Given the description of an element on the screen output the (x, y) to click on. 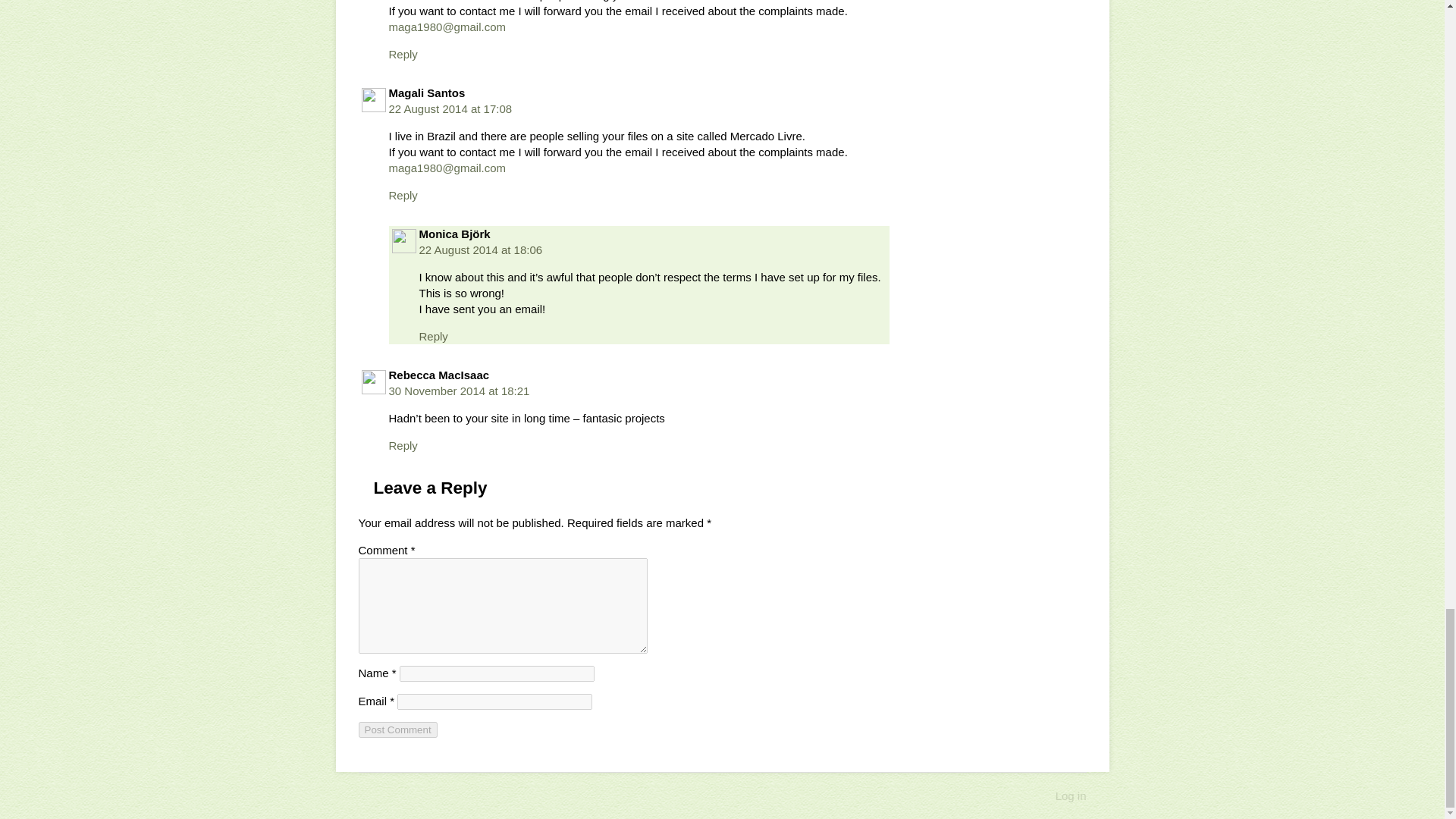
Post Comment (397, 729)
Post Comment (397, 729)
30 November 2014 at 18:21 (458, 390)
22 August 2014 at 18:06 (480, 249)
Reply (402, 195)
Reply (402, 445)
22 August 2014 at 17:08 (450, 108)
Reply (432, 336)
Reply (402, 53)
